Given the description of an element on the screen output the (x, y) to click on. 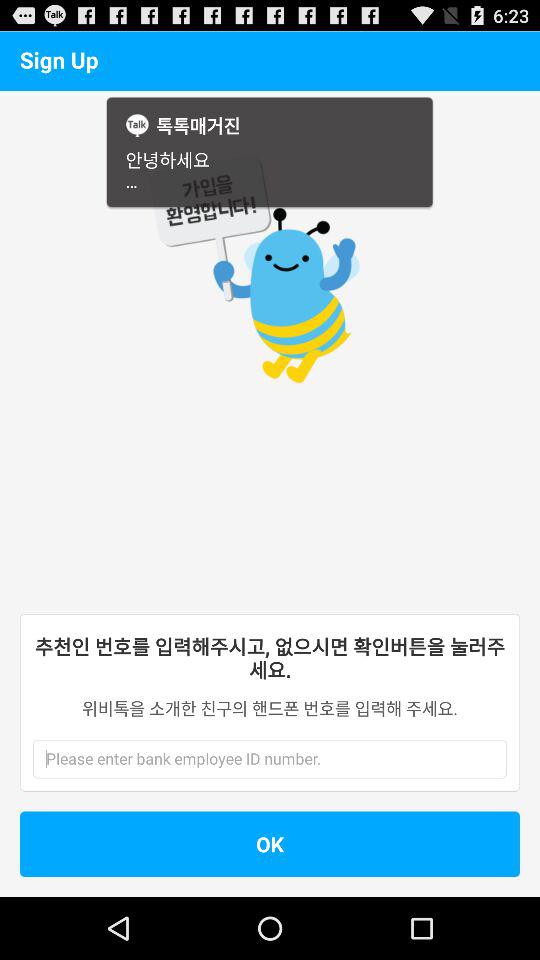
write a word (249, 759)
